Given the description of an element on the screen output the (x, y) to click on. 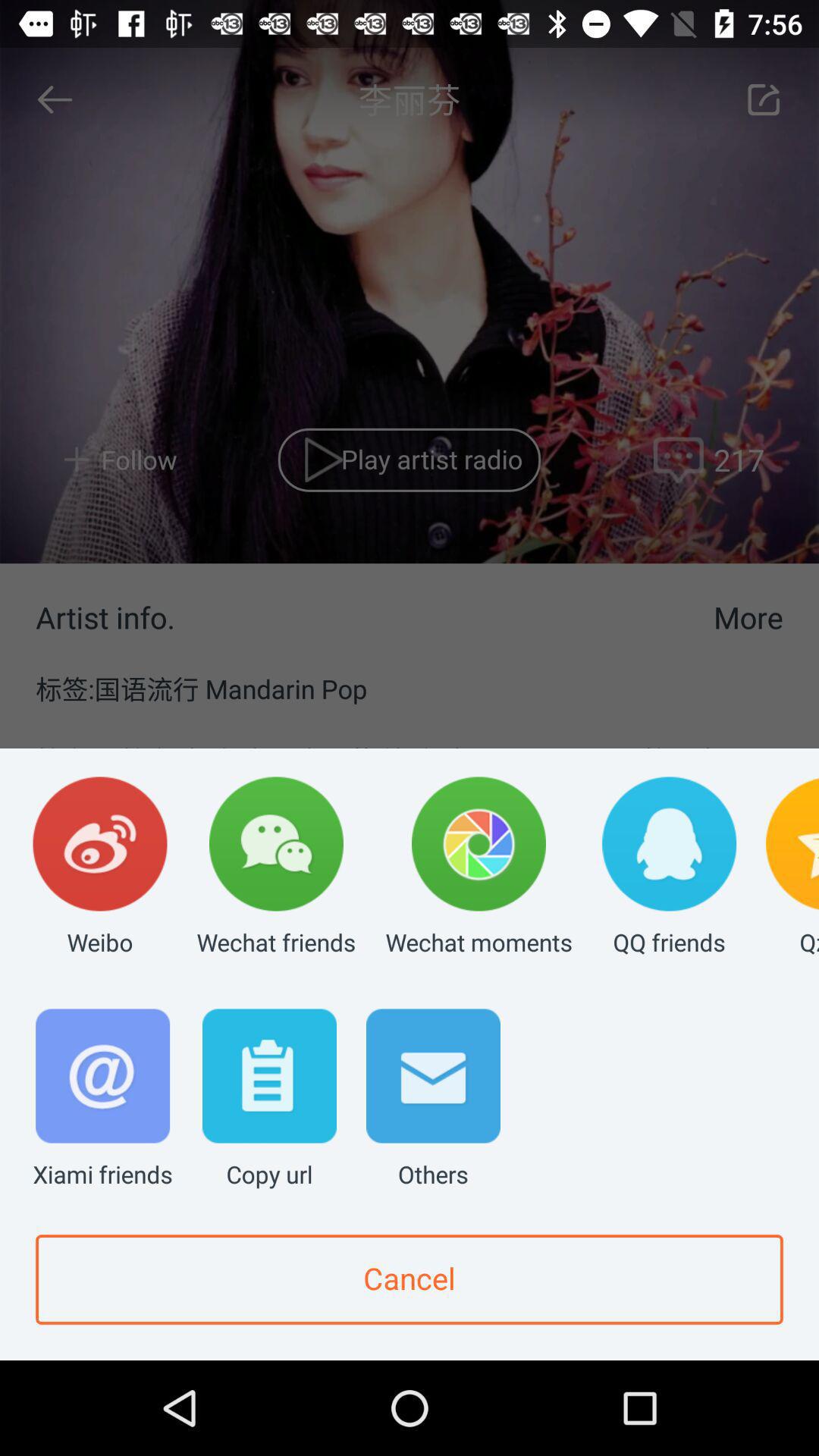
click the icon on the left (99, 867)
